Given the description of an element on the screen output the (x, y) to click on. 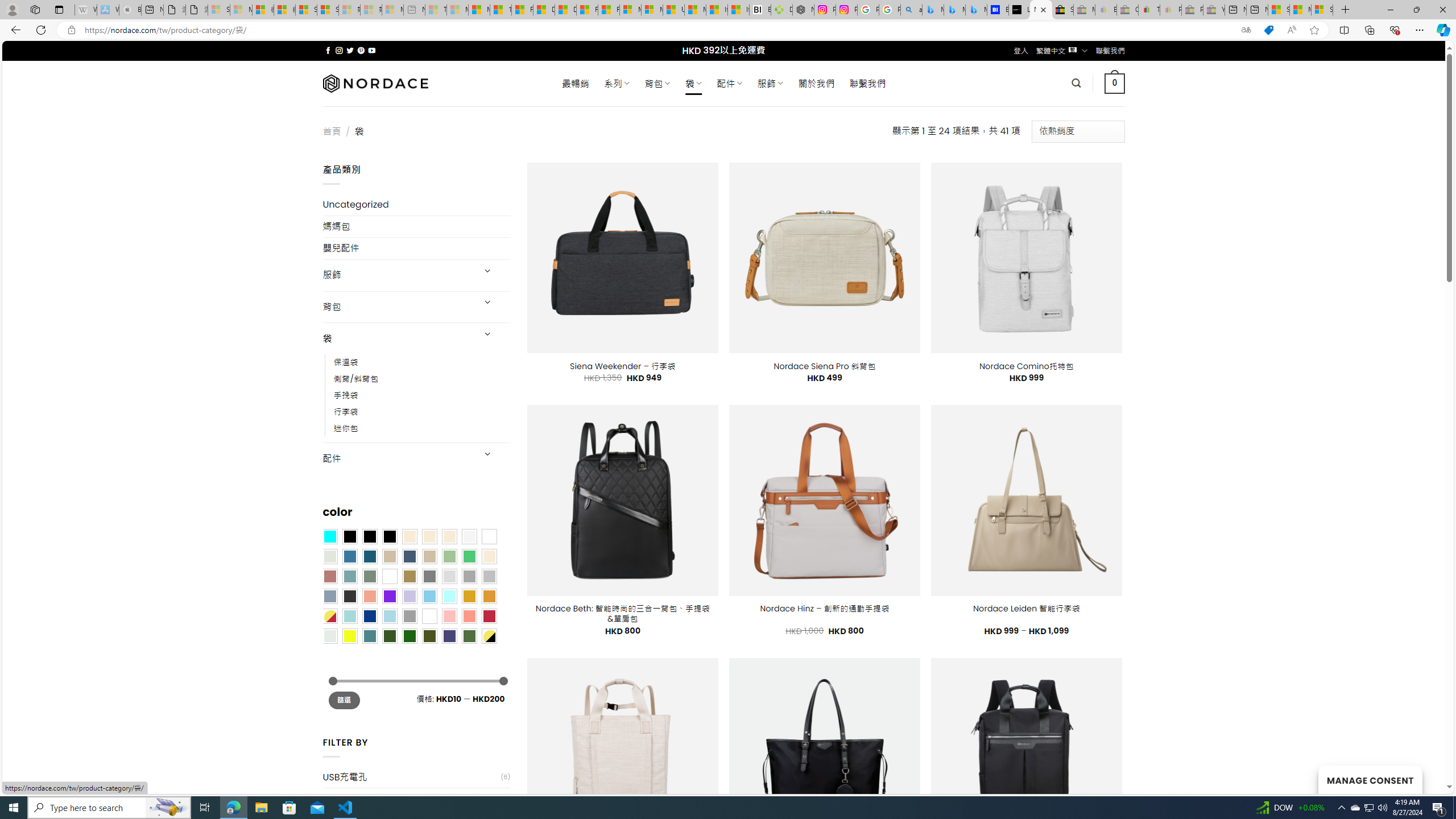
Payments Terms of Use | eBay.com - Sleeping (1170, 9)
Uncategorized (416, 204)
Follow on Pinterest (360, 50)
